Given the description of an element on the screen output the (x, y) to click on. 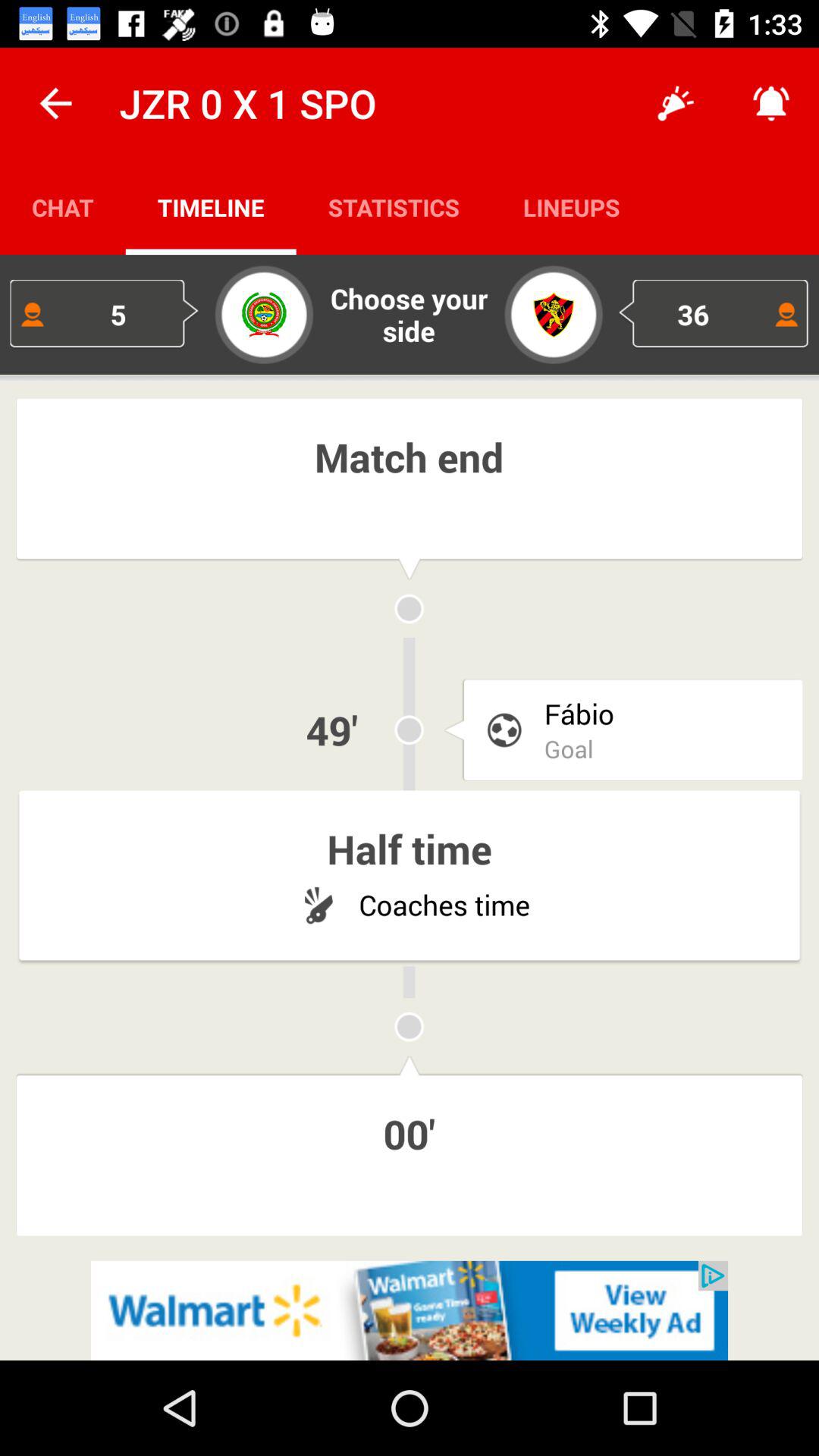
advertisement display (409, 1310)
